Given the description of an element on the screen output the (x, y) to click on. 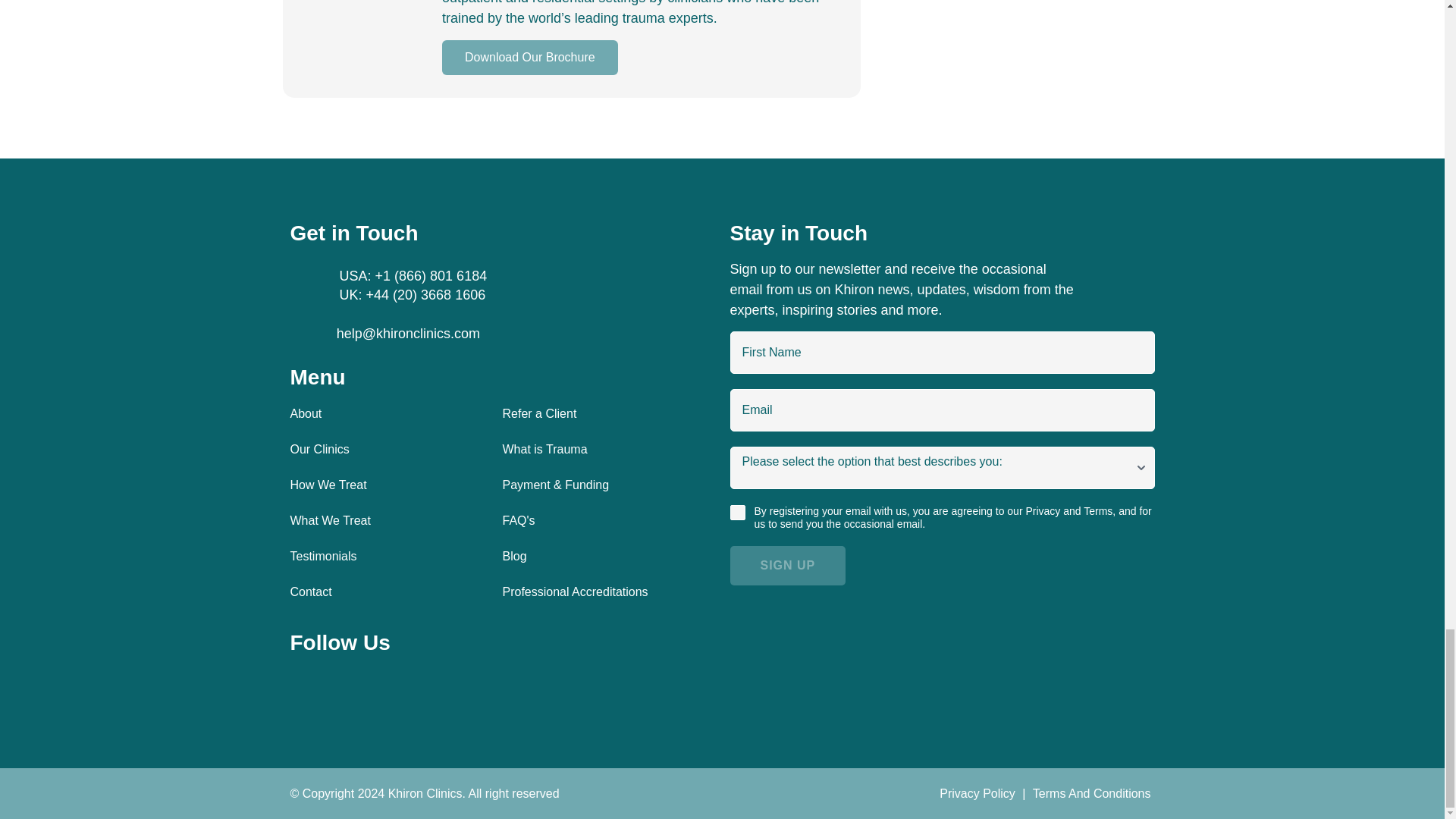
1 (736, 512)
Sign Up (787, 565)
